Given the description of an element on the screen output the (x, y) to click on. 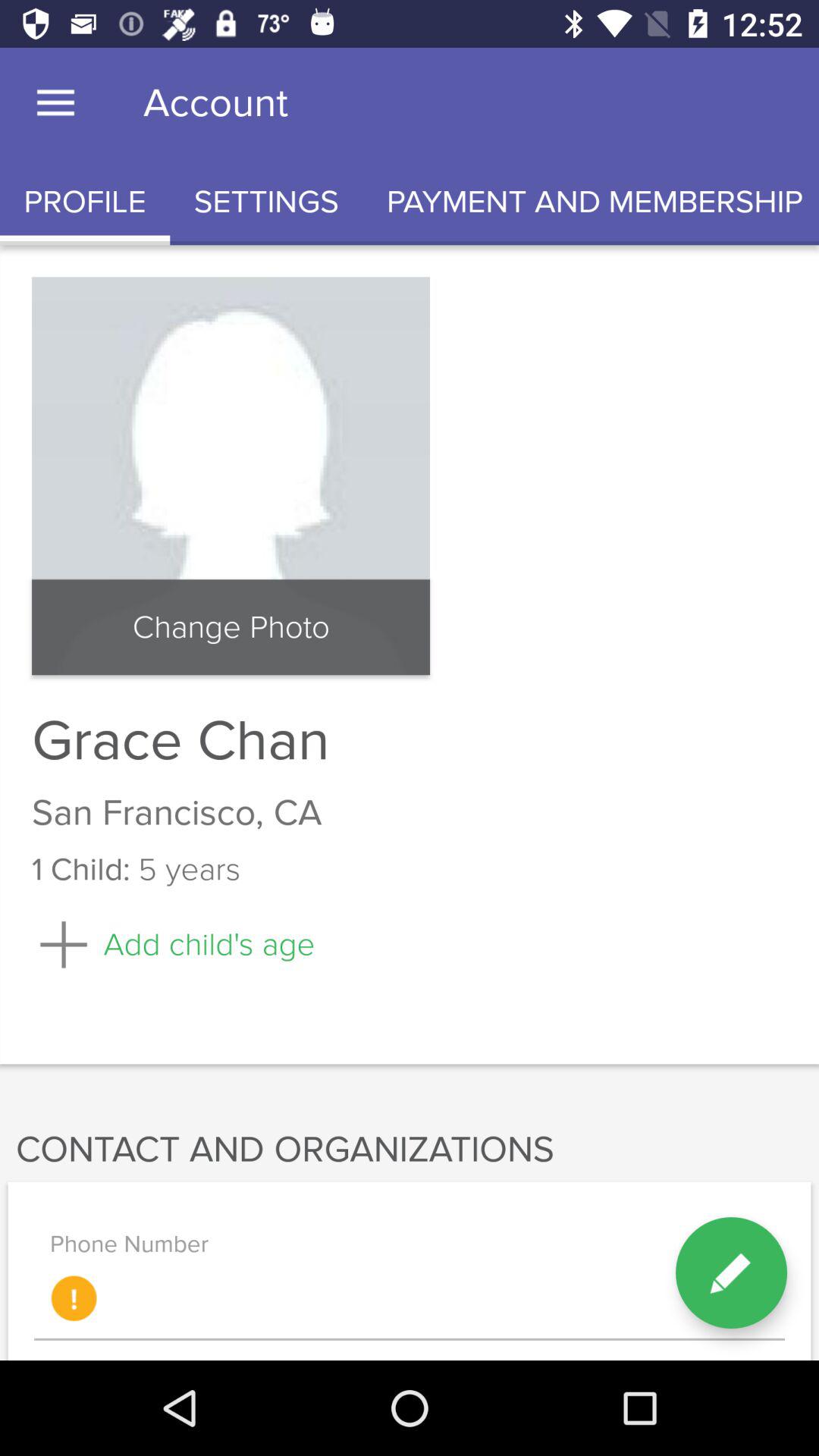
turn on profile icon (85, 202)
